Given the description of an element on the screen output the (x, y) to click on. 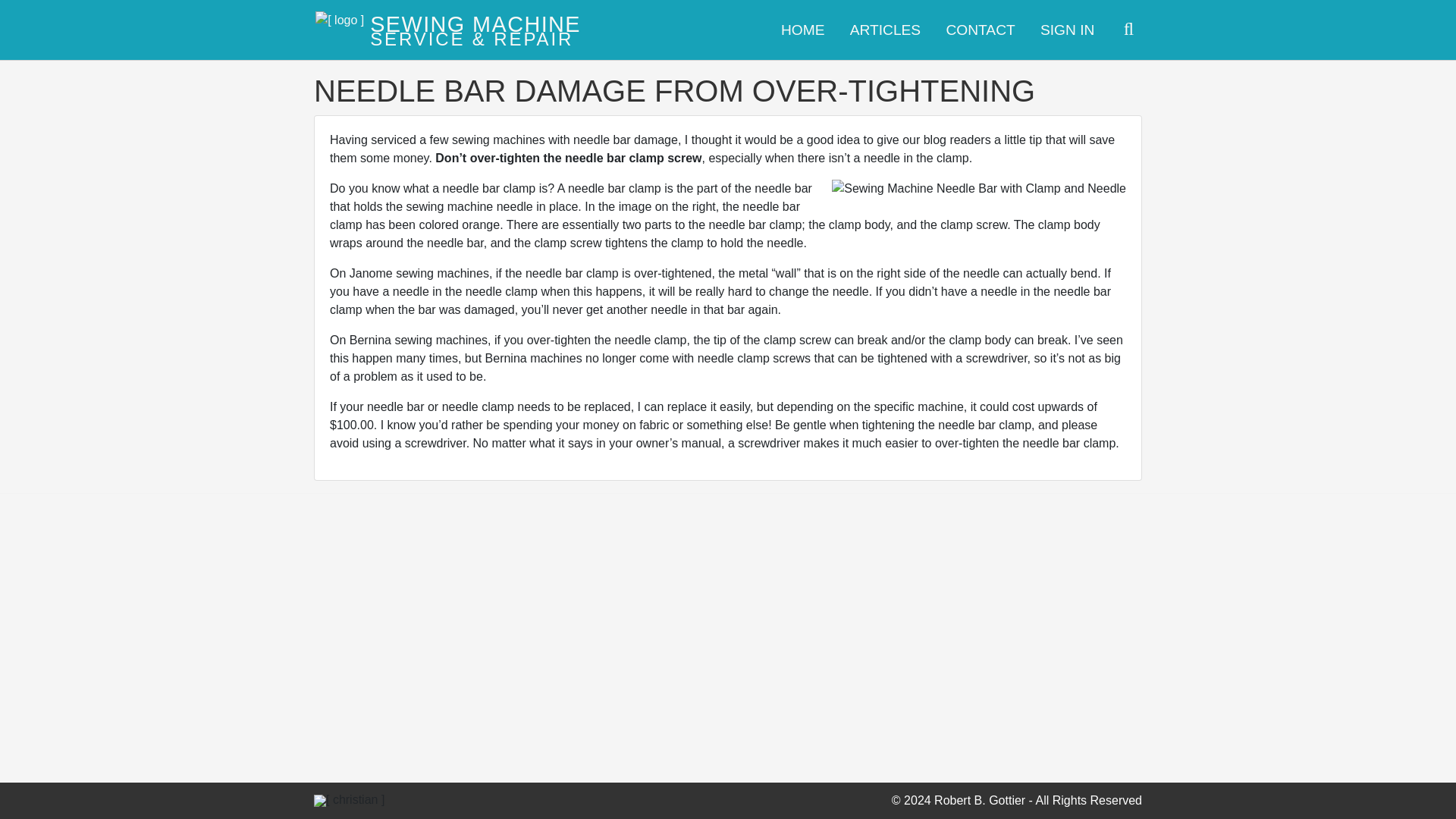
Sewing Machine Needle Bar with Clamp and Needle (978, 188)
ARTICLES (884, 30)
CONTACT (980, 30)
SIGN IN (1067, 30)
HOME (802, 30)
